Given the description of an element on the screen output the (x, y) to click on. 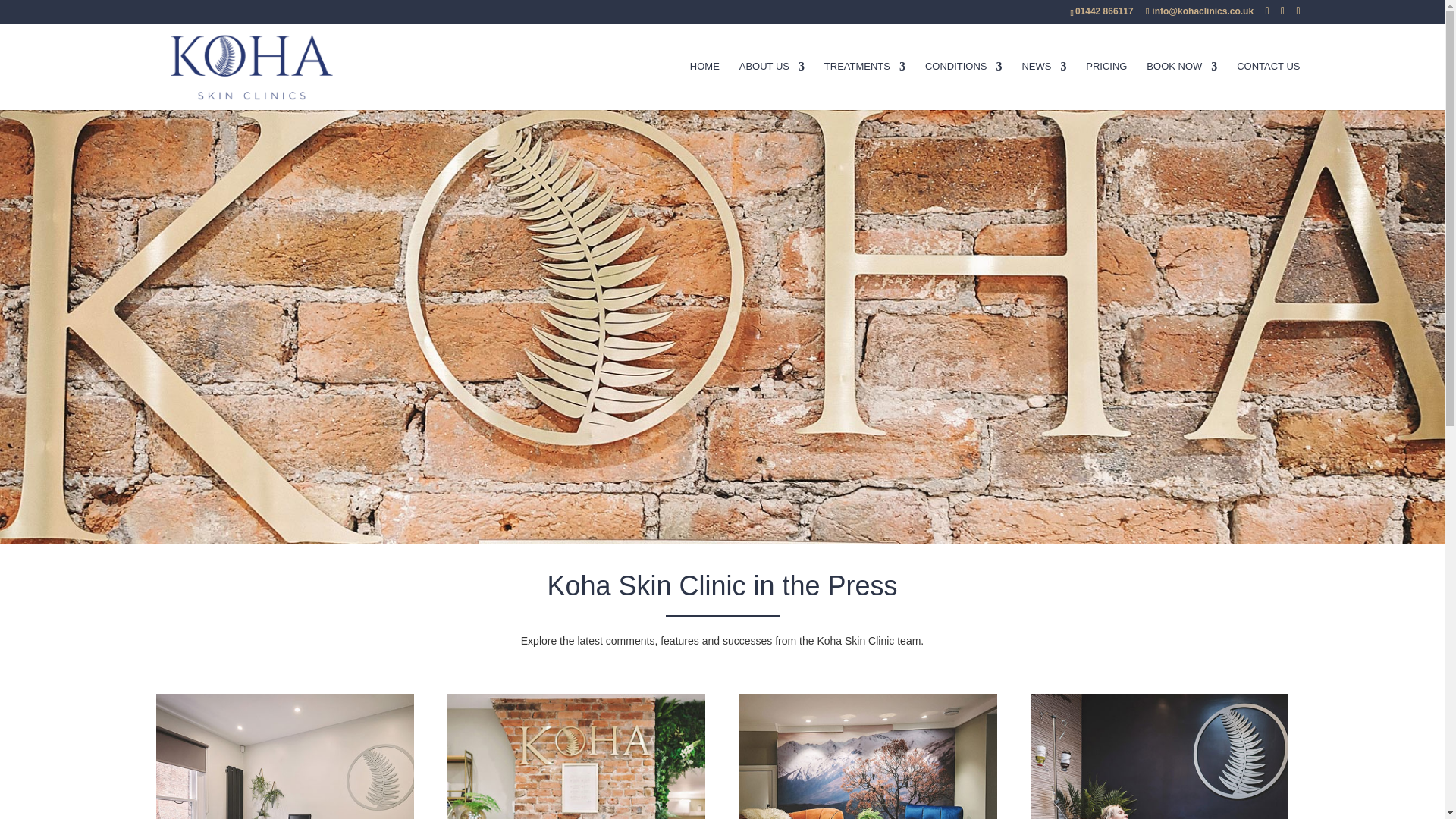
ABOUT US (772, 85)
CONDITIONS (963, 85)
TREATMENTS (864, 85)
Profhilo-Koha-Clinics-Telegraph-Article-Feature-Image (284, 756)
